Given the description of an element on the screen output the (x, y) to click on. 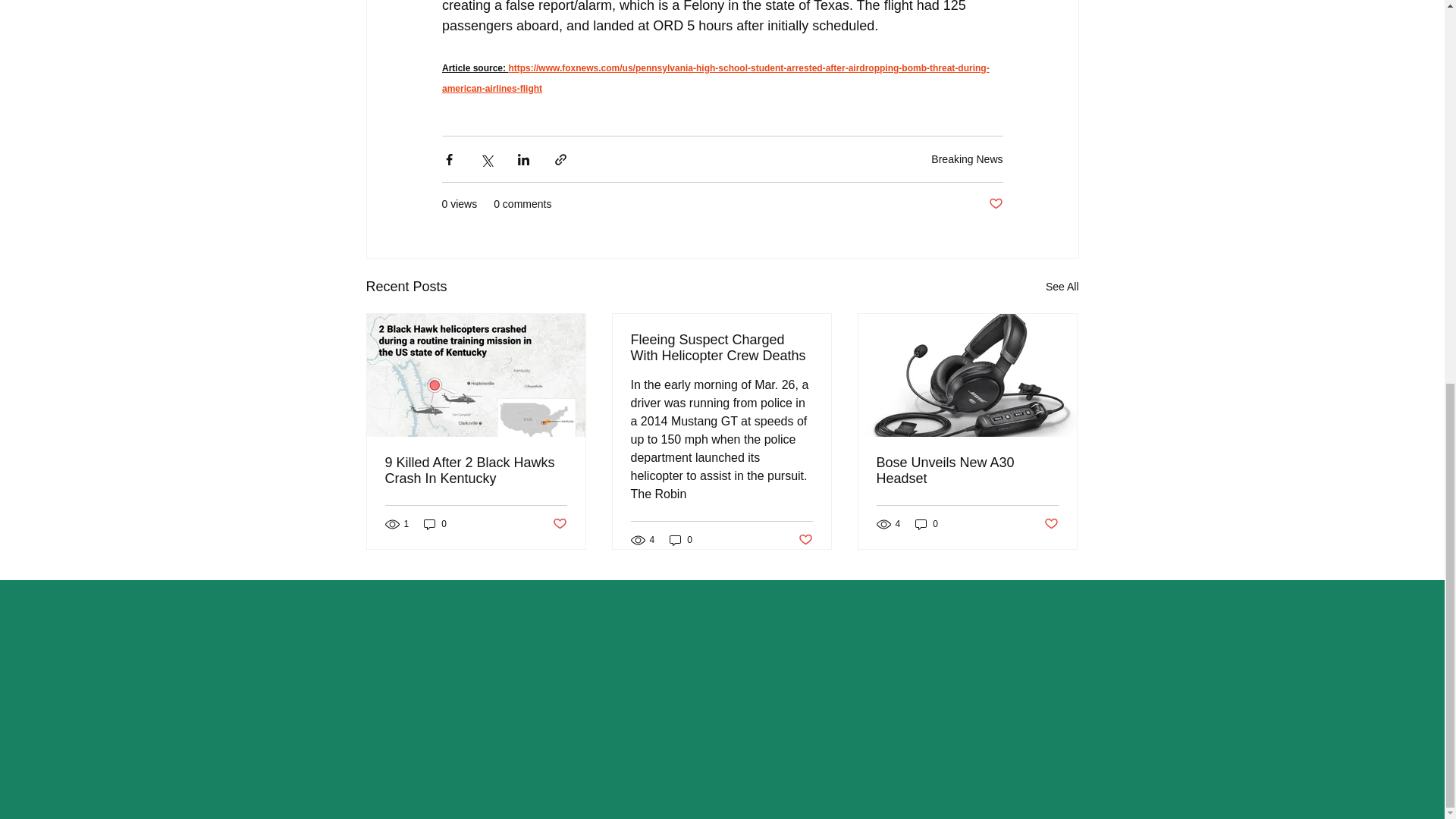
Post not marked as liked (804, 539)
Fleeing Suspect Charged With Helicopter Crew Deaths (721, 347)
See All (1061, 287)
Breaking News (967, 159)
Post not marked as liked (558, 523)
Post not marked as liked (995, 204)
Bose Unveils New A30 Headset (967, 470)
Post not marked as liked (1050, 523)
0 (926, 523)
0 (435, 523)
